Given the description of an element on the screen output the (x, y) to click on. 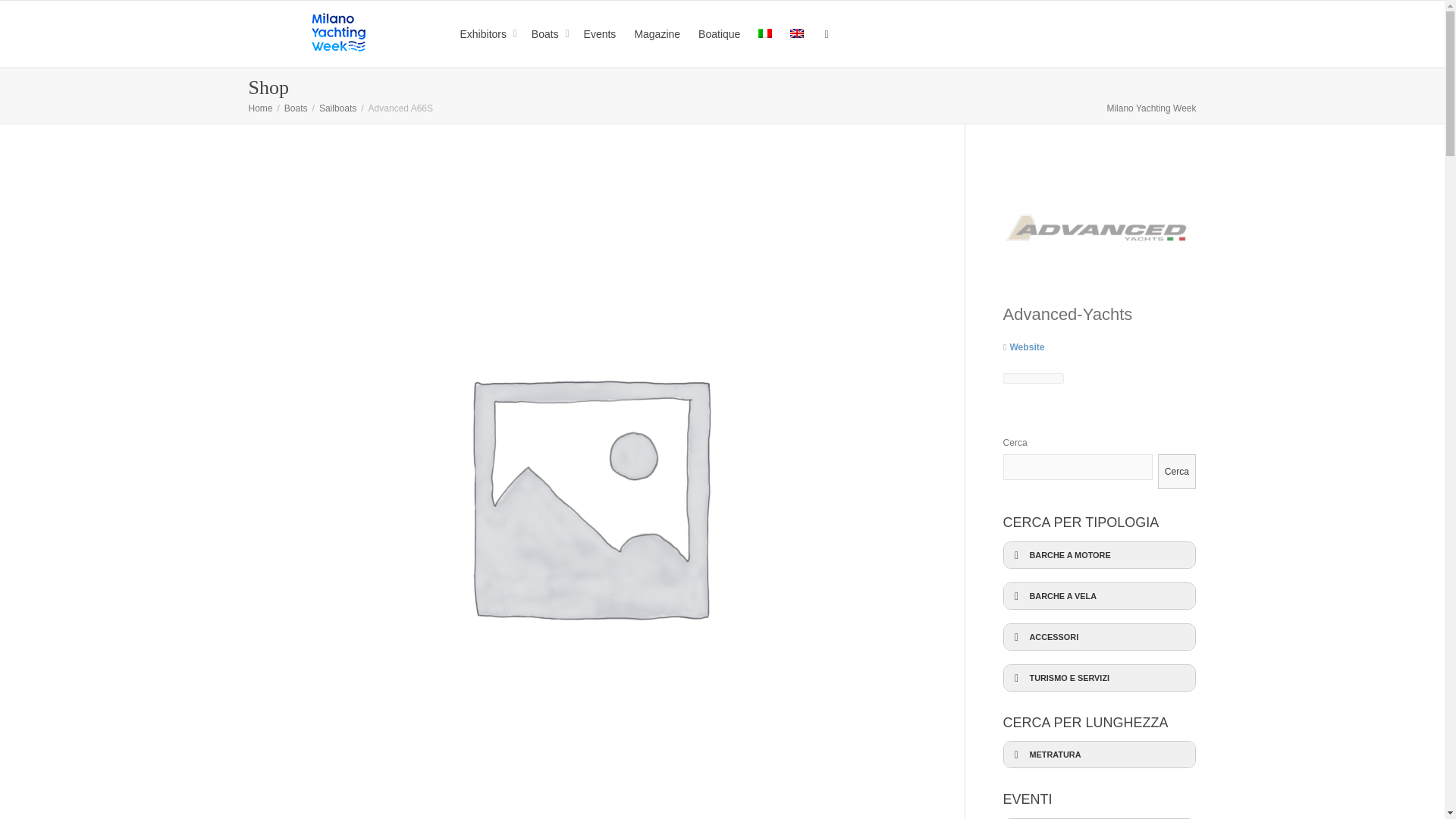
Sailboats (337, 108)
Milano Yachting Week (336, 32)
Boats (295, 108)
Home (260, 108)
View: Advanced Yachts (1067, 313)
